Given the description of an element on the screen output the (x, y) to click on. 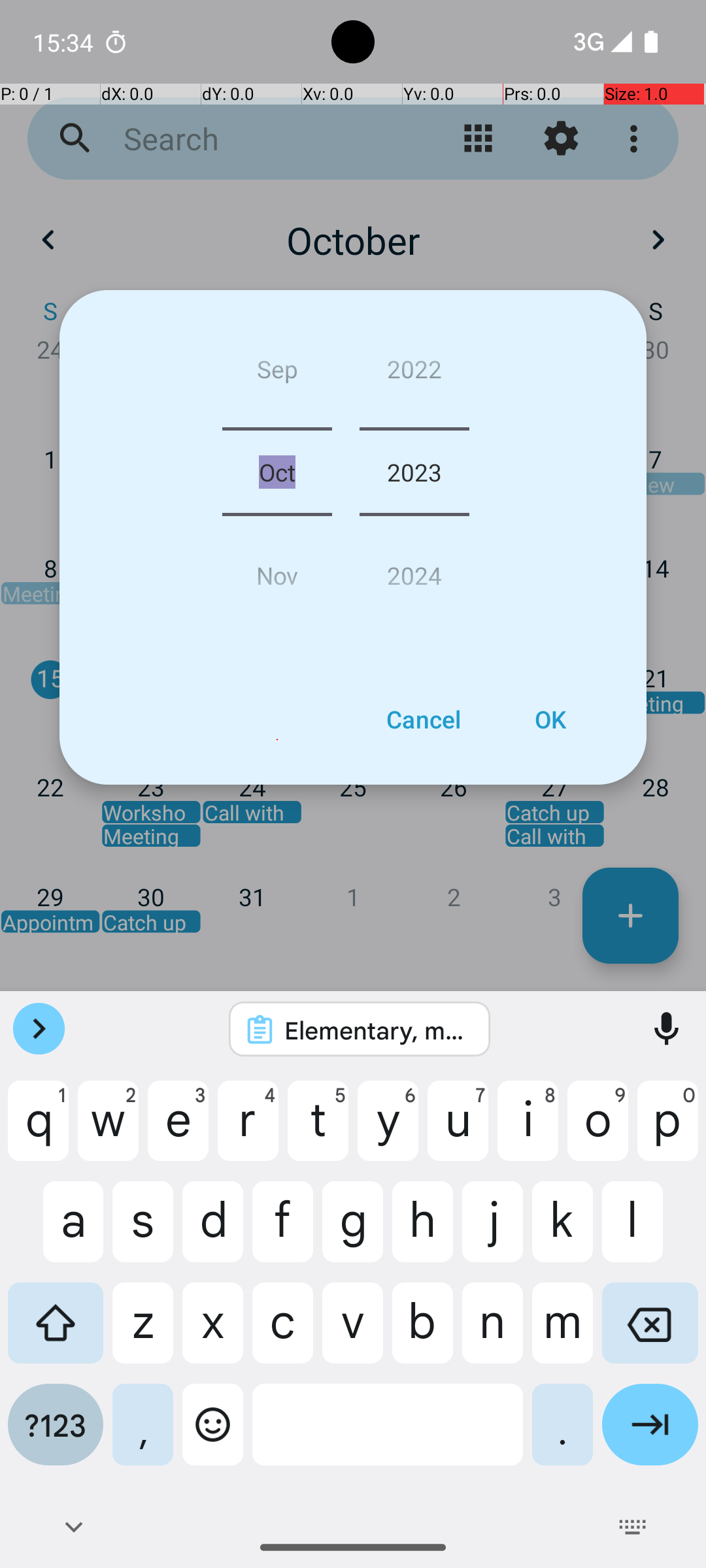
Elementary, my dear Watson. Element type: android.widget.TextView (376, 1029)
